Given the description of an element on the screen output the (x, y) to click on. 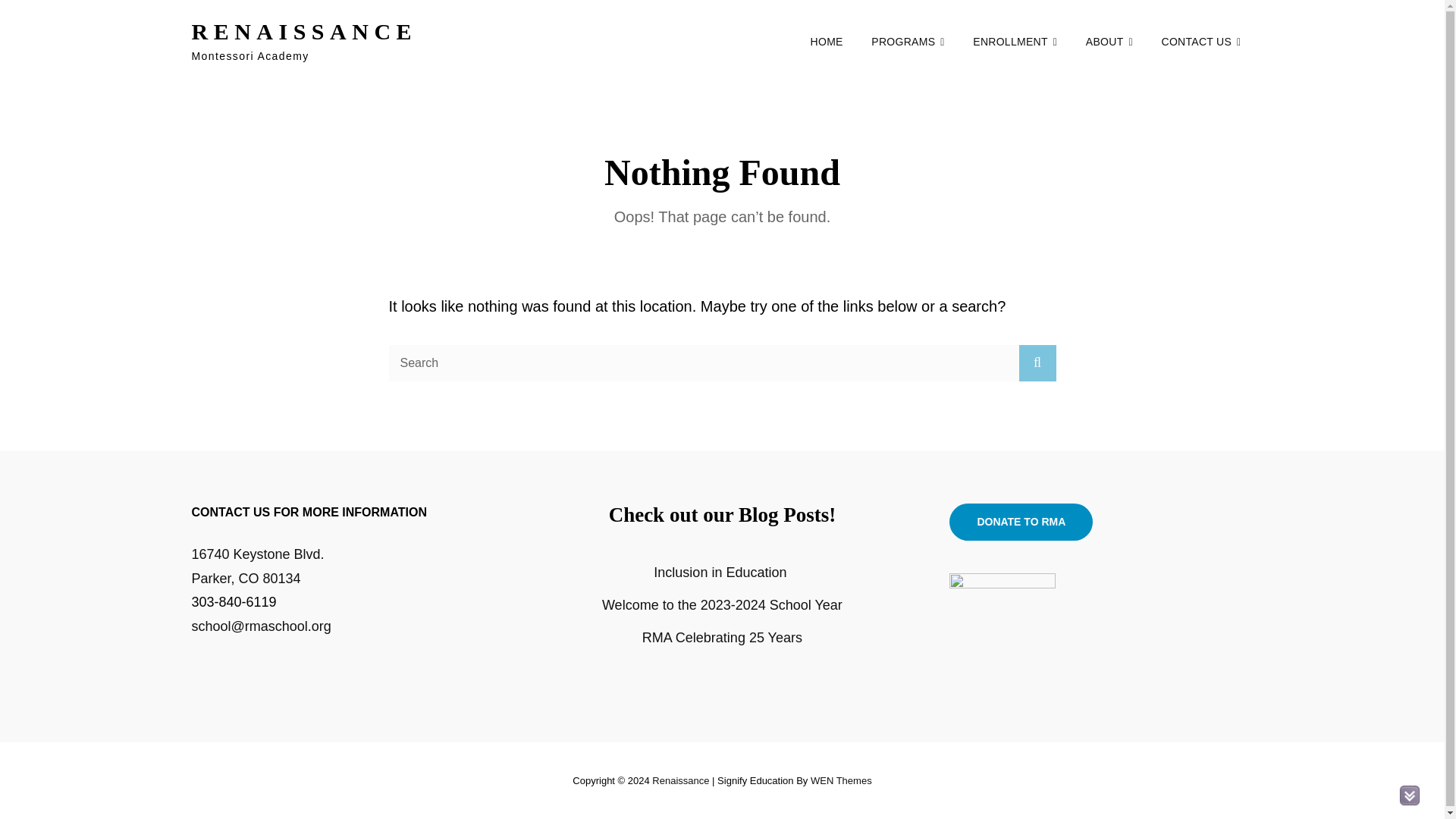
HOME (826, 41)
DONATE TO RMA (1021, 521)
ABOUT (1109, 41)
Welcome to the 2023-2024 School Year (722, 604)
PROGRAMS (907, 41)
CONTACT US (1200, 41)
RMA Celebrating 25 Years (722, 637)
RENAISSANCE (303, 31)
ENROLLMENT (1014, 41)
Search (1038, 362)
Inclusion in Education  (721, 572)
